Given the description of an element on the screen output the (x, y) to click on. 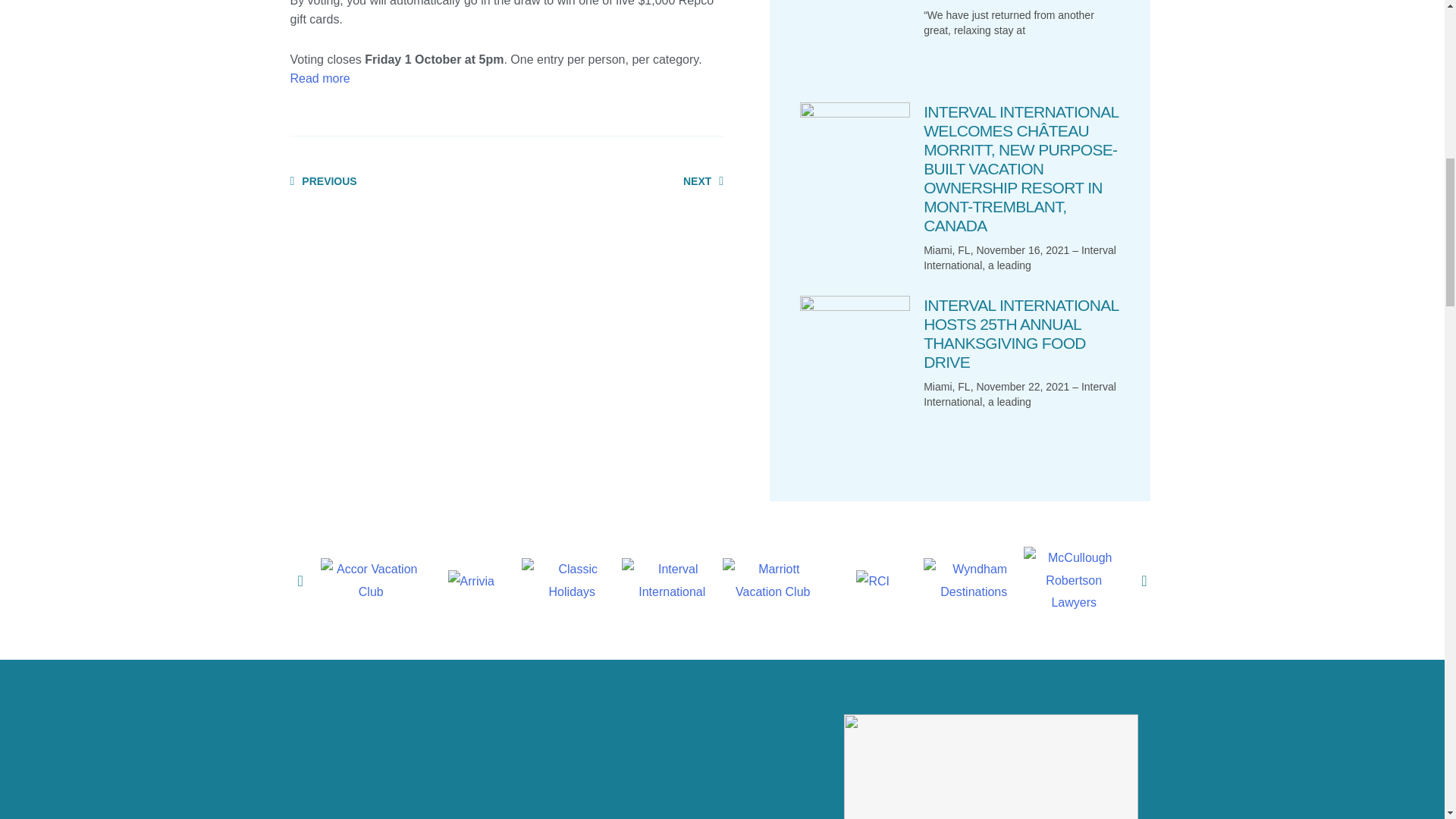
Read more (397, 181)
